Given the description of an element on the screen output the (x, y) to click on. 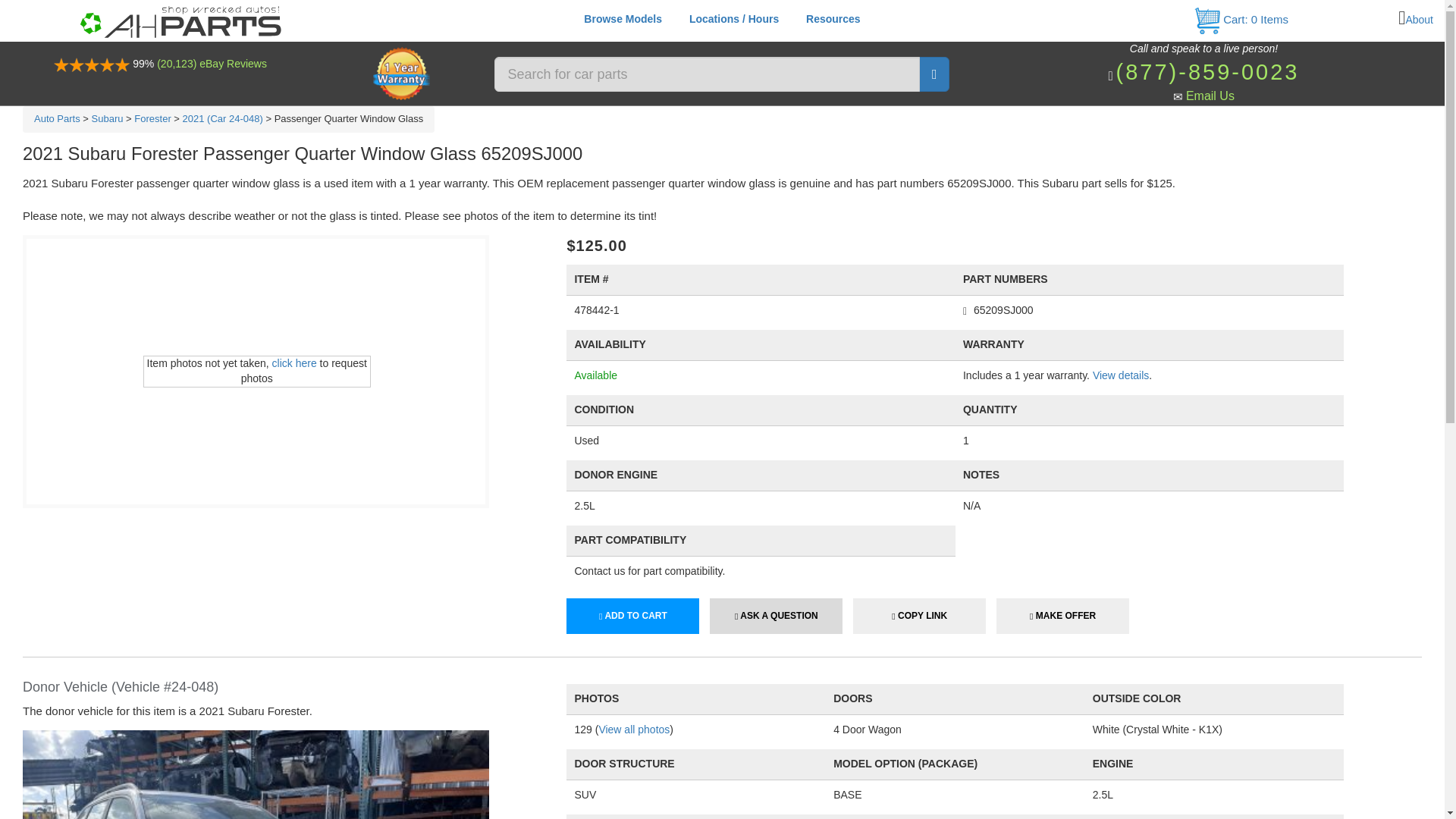
Forester (151, 118)
Cart: 0 Items (1240, 19)
Ask a Question (776, 615)
View all photos (633, 729)
Forester (151, 118)
AH Parts Dismantlers (180, 20)
COPY LINK (919, 615)
Submit an Offer (1062, 615)
About (1418, 19)
Email Us (1210, 95)
